Given the description of an element on the screen output the (x, y) to click on. 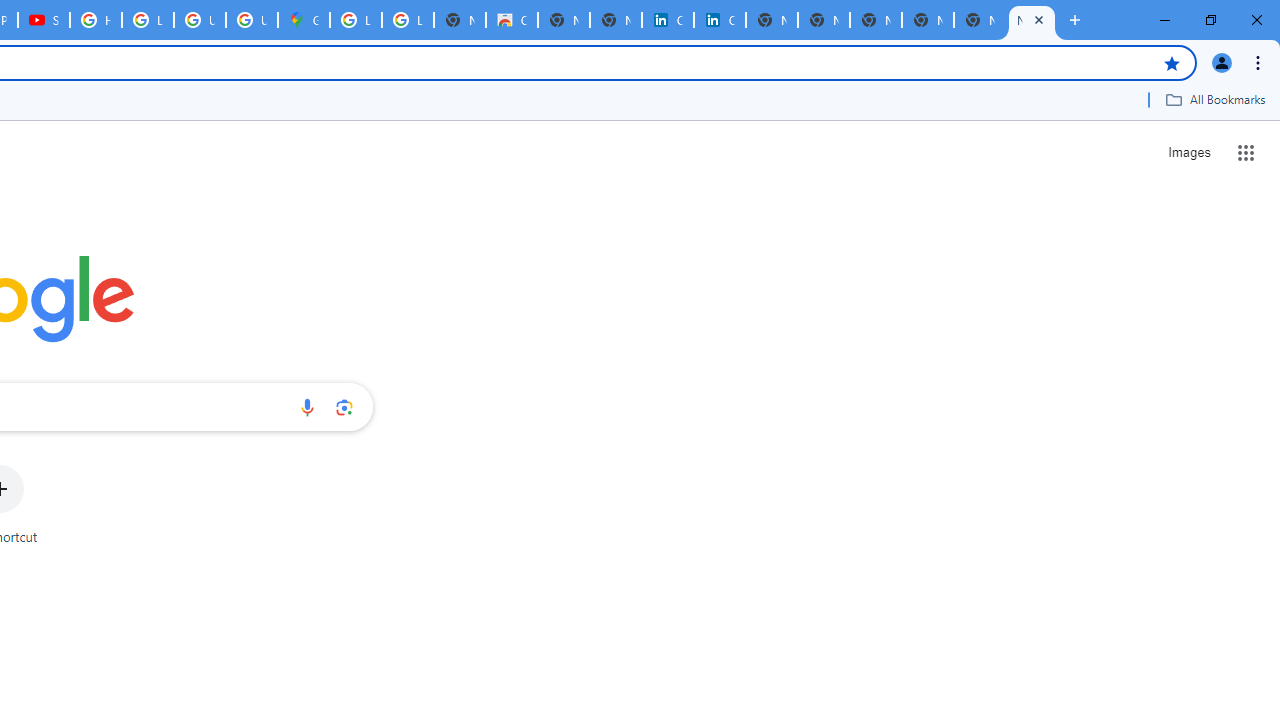
Cookie Policy | LinkedIn (667, 20)
New Tab (1032, 20)
Subscriptions - YouTube (43, 20)
